Given the description of an element on the screen output the (x, y) to click on. 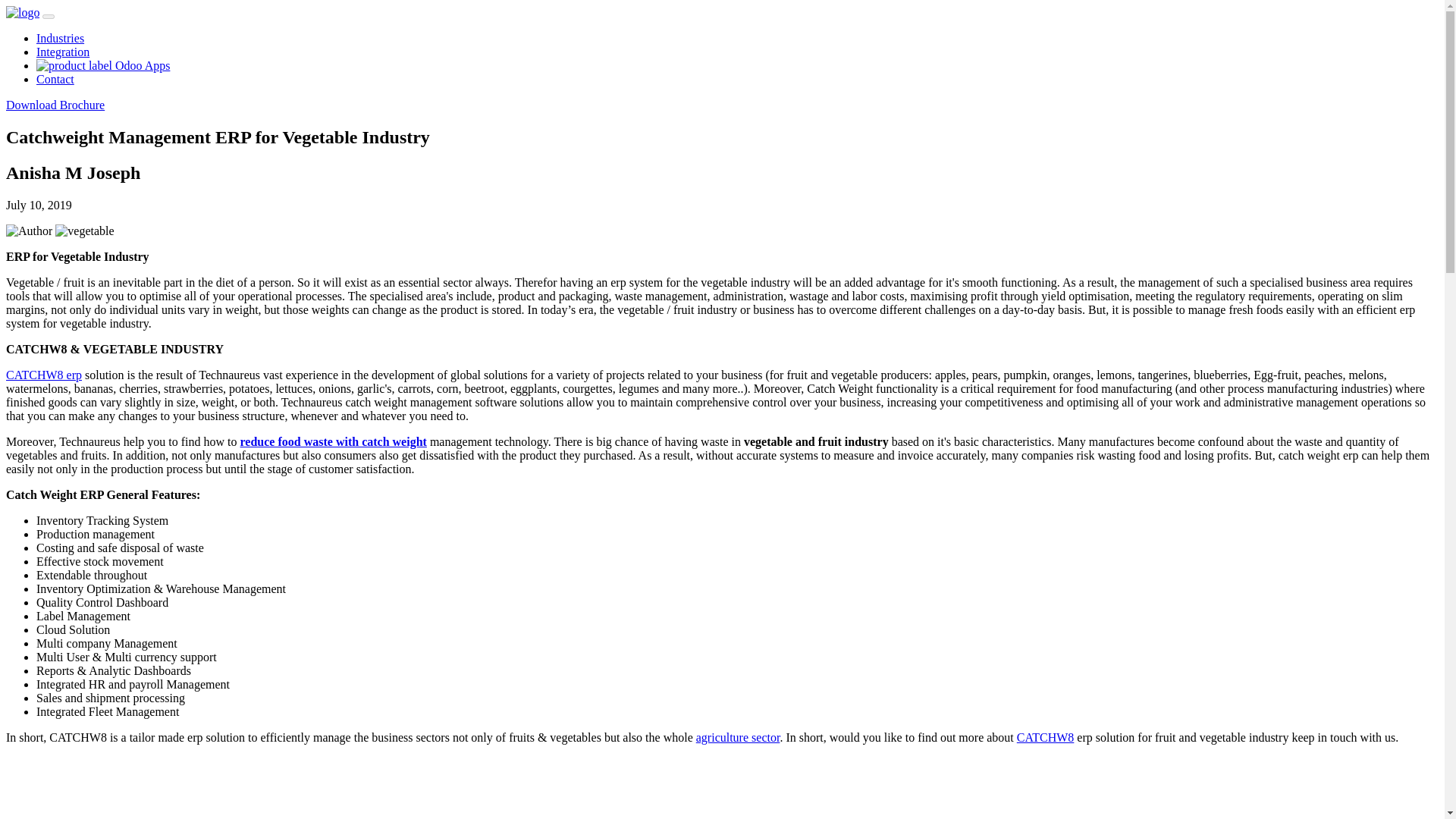
reduce food waste with catch weight (333, 440)
CATCHW8 (1045, 737)
Odoo Apps (103, 65)
Integration (62, 51)
CATCHW8 erp (43, 374)
agriculture sector (737, 737)
Industries (60, 38)
Contact (55, 78)
